Given the description of an element on the screen output the (x, y) to click on. 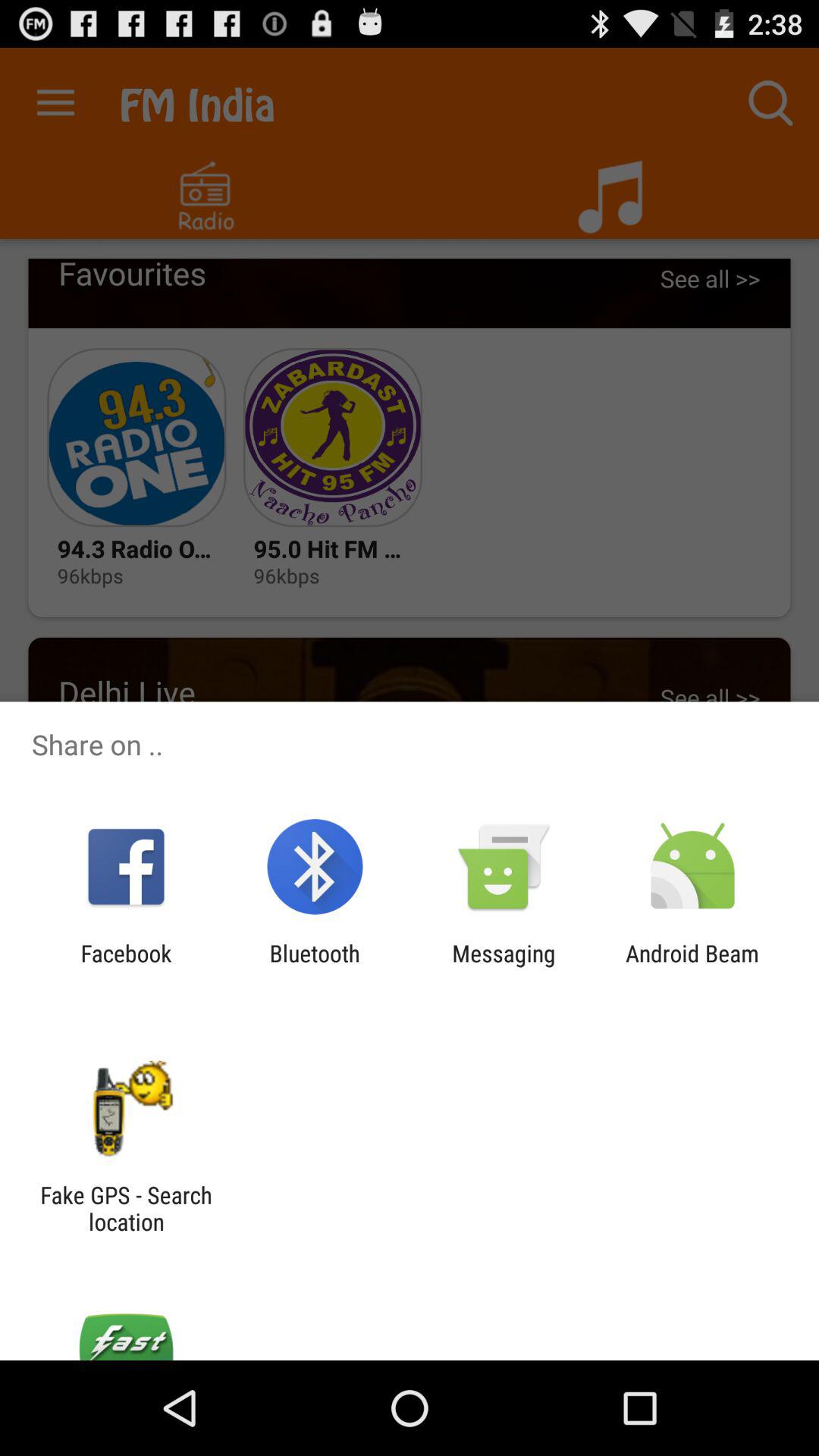
select bluetooth item (314, 966)
